Given the description of an element on the screen output the (x, y) to click on. 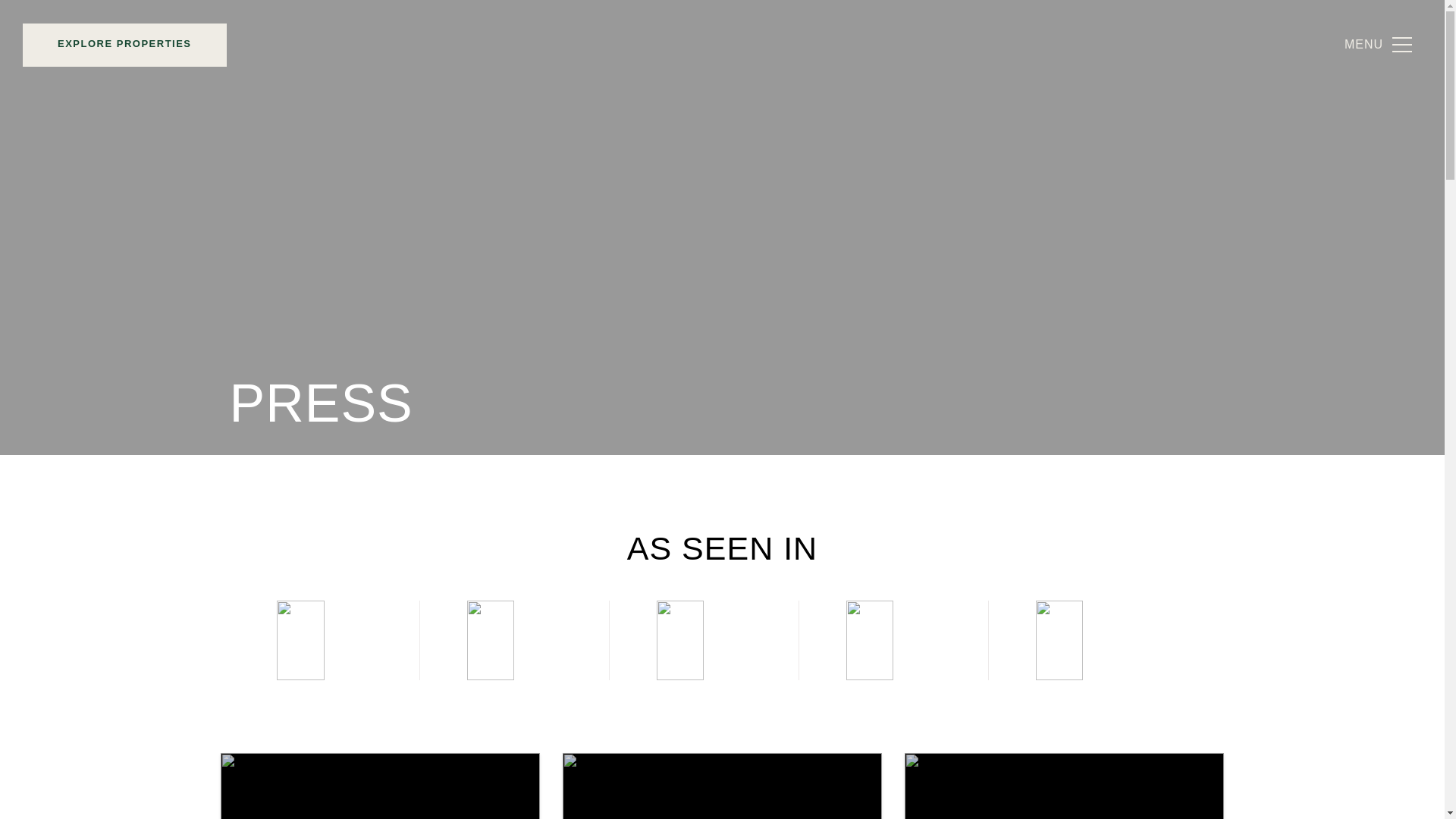
EXPLORE PROPERTIES (125, 86)
